Given the description of an element on the screen output the (x, y) to click on. 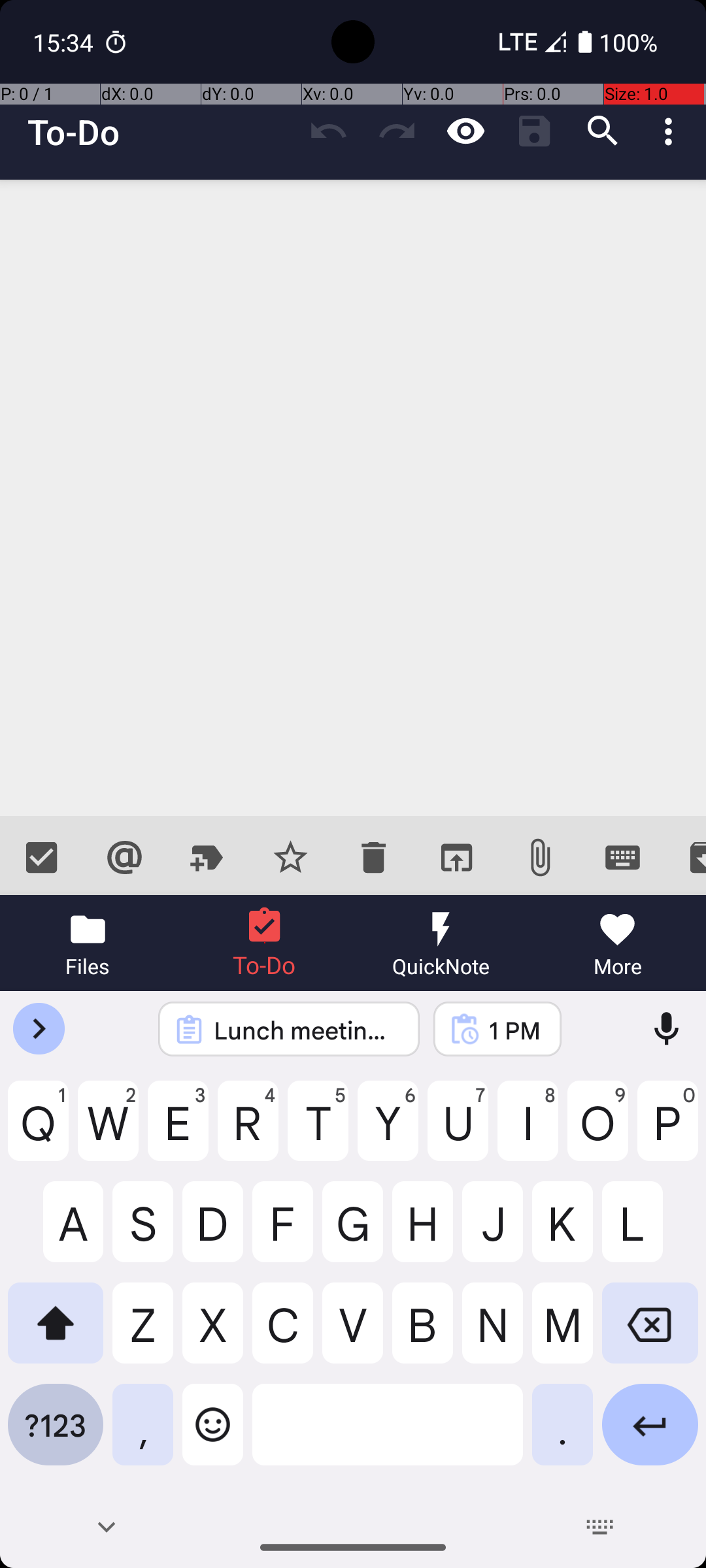
Lunch meeting with Sarah at 1 PM Cafe L'amour. Element type: android.widget.TextView (305, 1029)
1 PM Element type: android.widget.TextView (514, 1029)
